Given the description of an element on the screen output the (x, y) to click on. 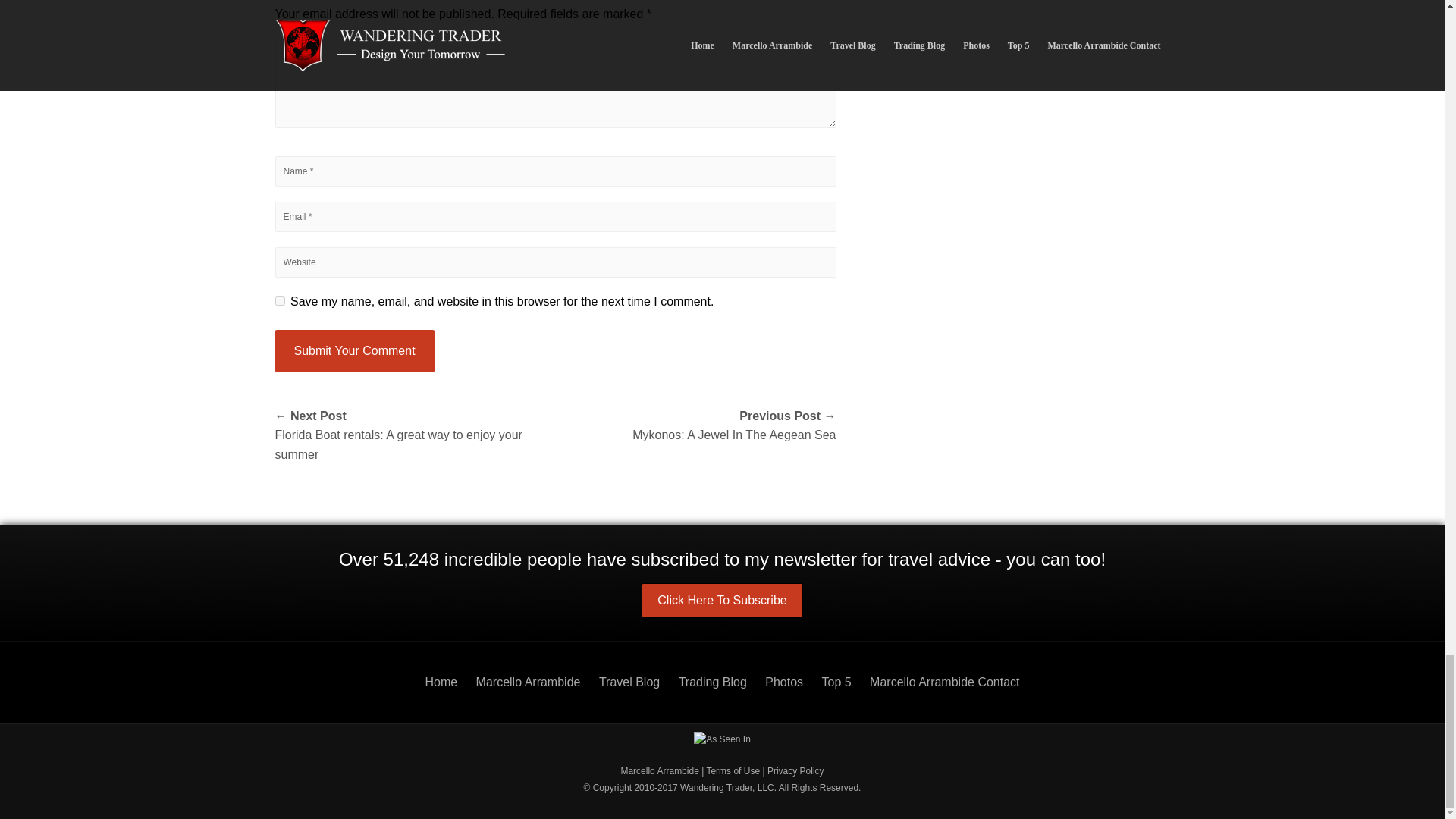
yes (279, 300)
Florida Boat rentals: A great way to enjoy your summer (414, 435)
Submit Your Comment (354, 351)
Submit Your Comment (354, 351)
Mykonos: A Jewel In The Aegean Sea (694, 425)
